Given the description of an element on the screen output the (x, y) to click on. 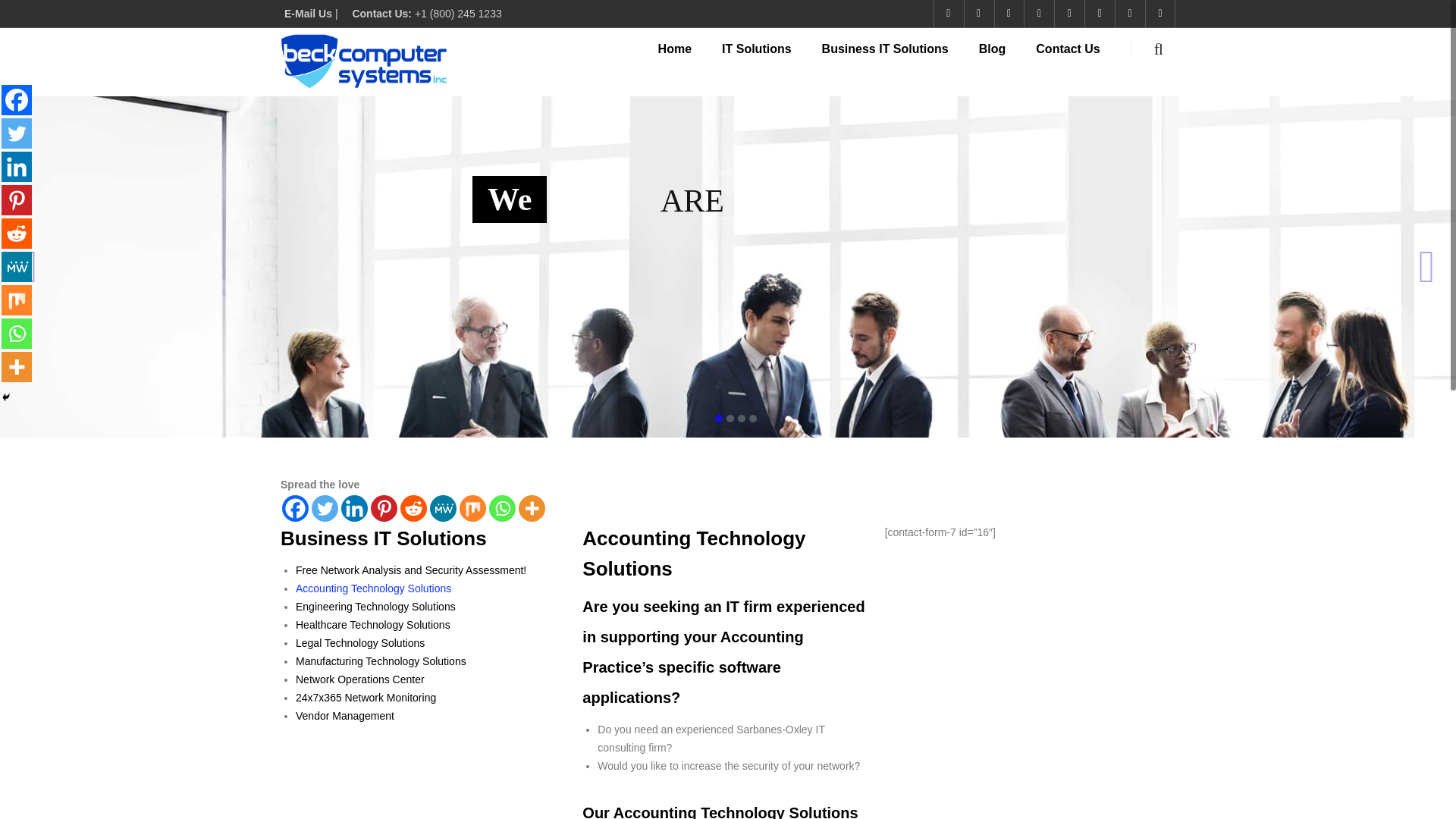
Pinterest (16, 200)
Twitter (324, 508)
Reddit (16, 233)
Twitter (16, 132)
Whatsapp (502, 508)
Mix (473, 508)
Facebook (16, 100)
Linkedin (16, 166)
Accounting Technology Solutions (373, 588)
Business IT Solutions (900, 54)
Healthcare Technology Solutions (372, 624)
IT Solutions (772, 54)
24x7x365 Network Monitoring (365, 697)
Blog (1007, 54)
Free Network Analysis and Security Assessment! (410, 570)
